Given the description of an element on the screen output the (x, y) to click on. 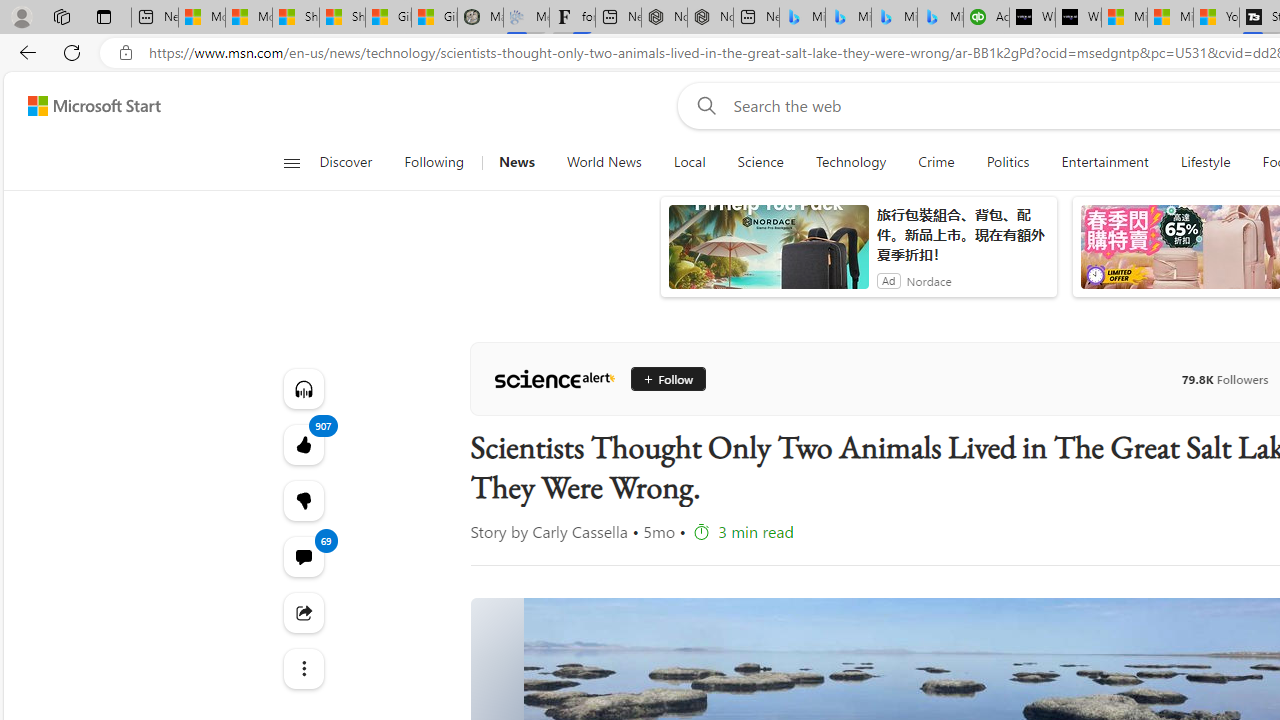
Dislike (302, 500)
View comments 69 Comment (302, 556)
Back (24, 52)
anim-content (768, 255)
Discover (353, 162)
Local (689, 162)
Following (433, 162)
More like this907Fewer like thisView comments (302, 500)
World News (603, 162)
World News (603, 162)
Discover (345, 162)
Accounting Software for Accountants, CPAs and Bookkeepers (985, 17)
Entertainment (1104, 162)
Follow (659, 378)
